Given the description of an element on the screen output the (x, y) to click on. 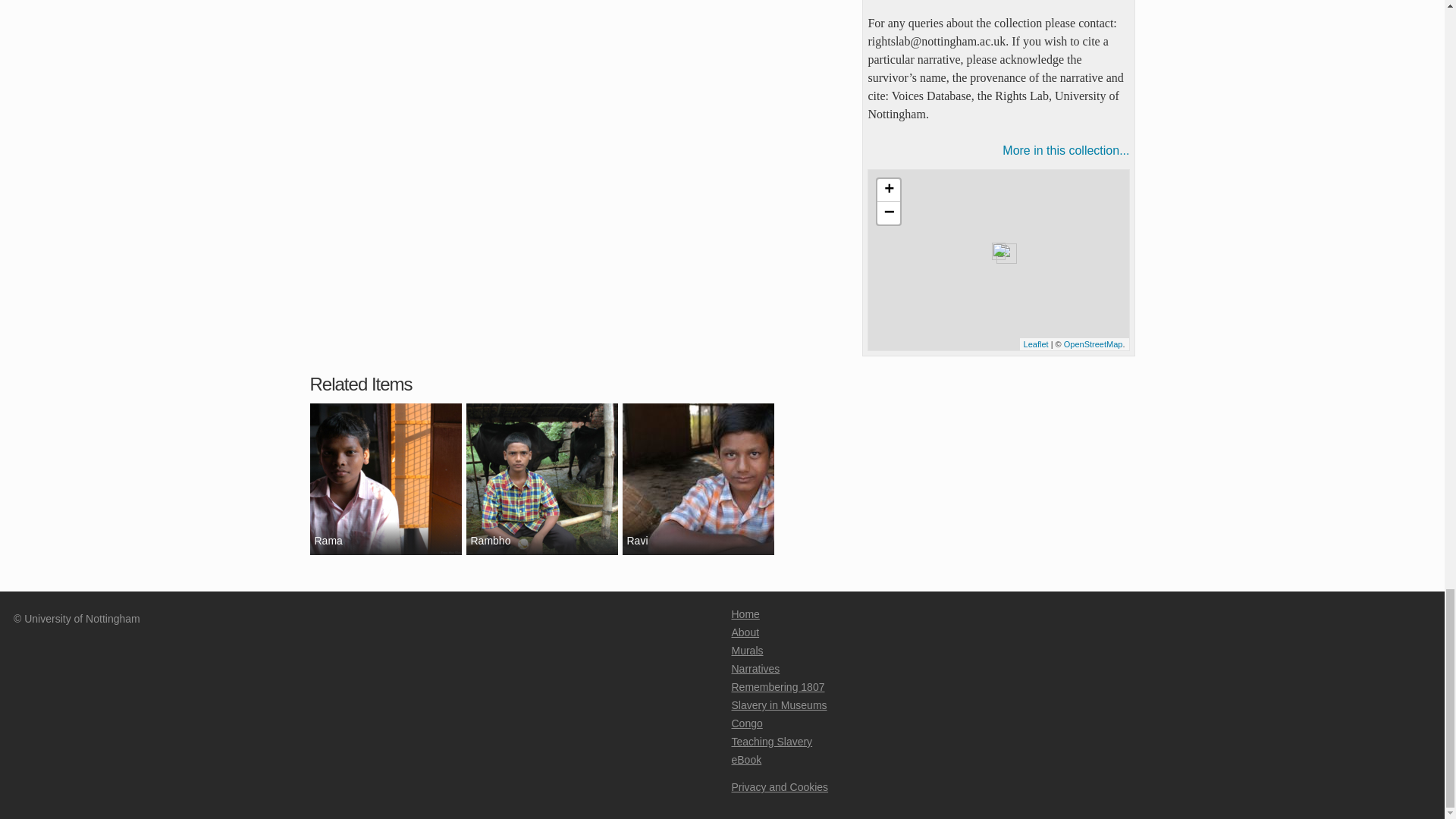
eBook (745, 759)
Teaching Slavery (771, 741)
Privacy and Cookies (779, 787)
Congo (745, 723)
A JS library for interactive maps (1035, 343)
Slavery in Museums (778, 705)
Zoom out (888, 212)
About (744, 632)
More in this collection... (998, 150)
Leaflet (1035, 343)
Remembering 1807 (777, 686)
Home (744, 613)
Narratives (754, 668)
Murals (746, 650)
Zoom in (888, 190)
